Given the description of an element on the screen output the (x, y) to click on. 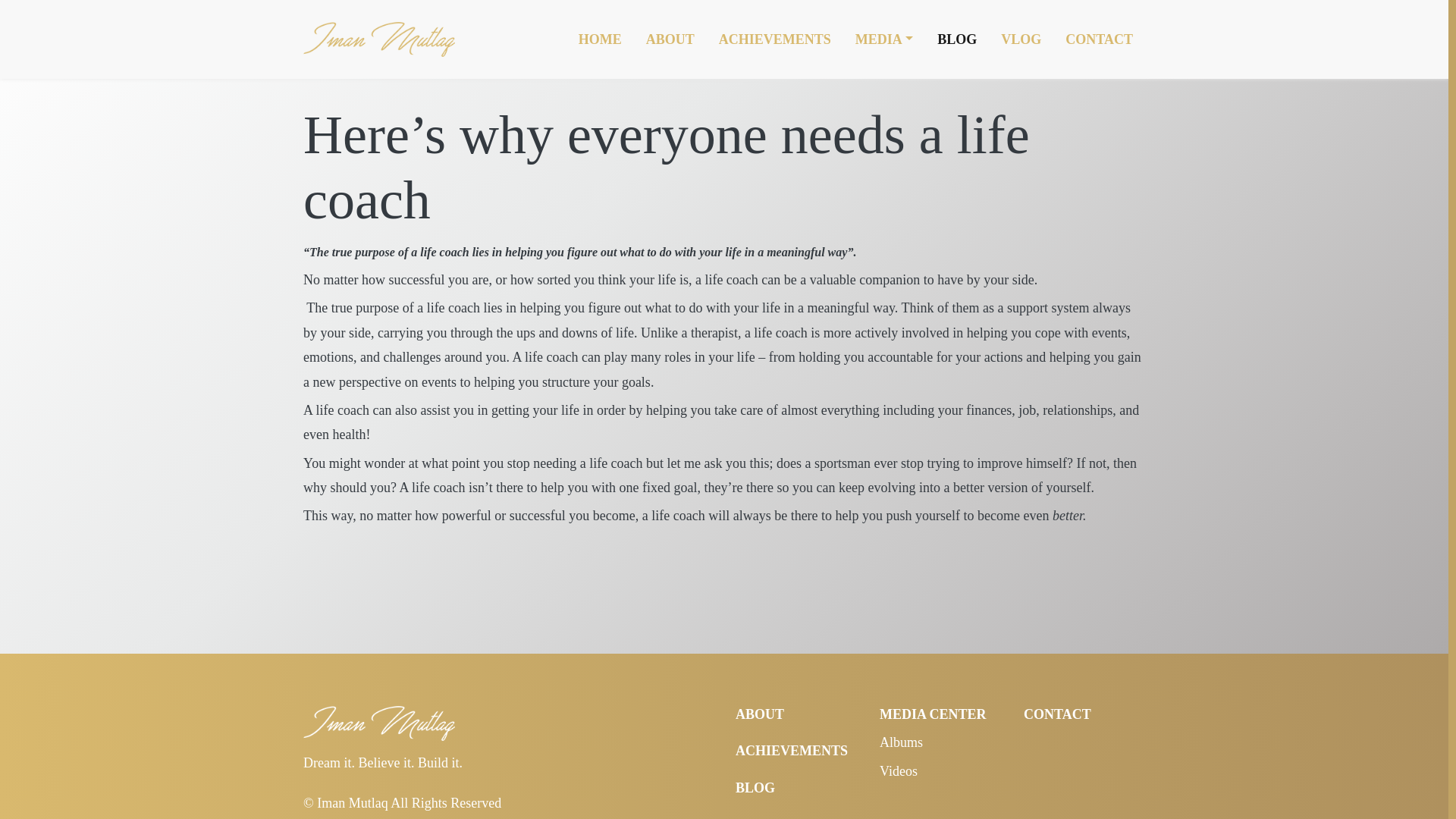
ACHIEVEMENTS (791, 750)
BLOG (754, 787)
ABOUT (759, 713)
Videos (898, 770)
Albums (901, 742)
CONTACT (1056, 713)
